Given the description of an element on the screen output the (x, y) to click on. 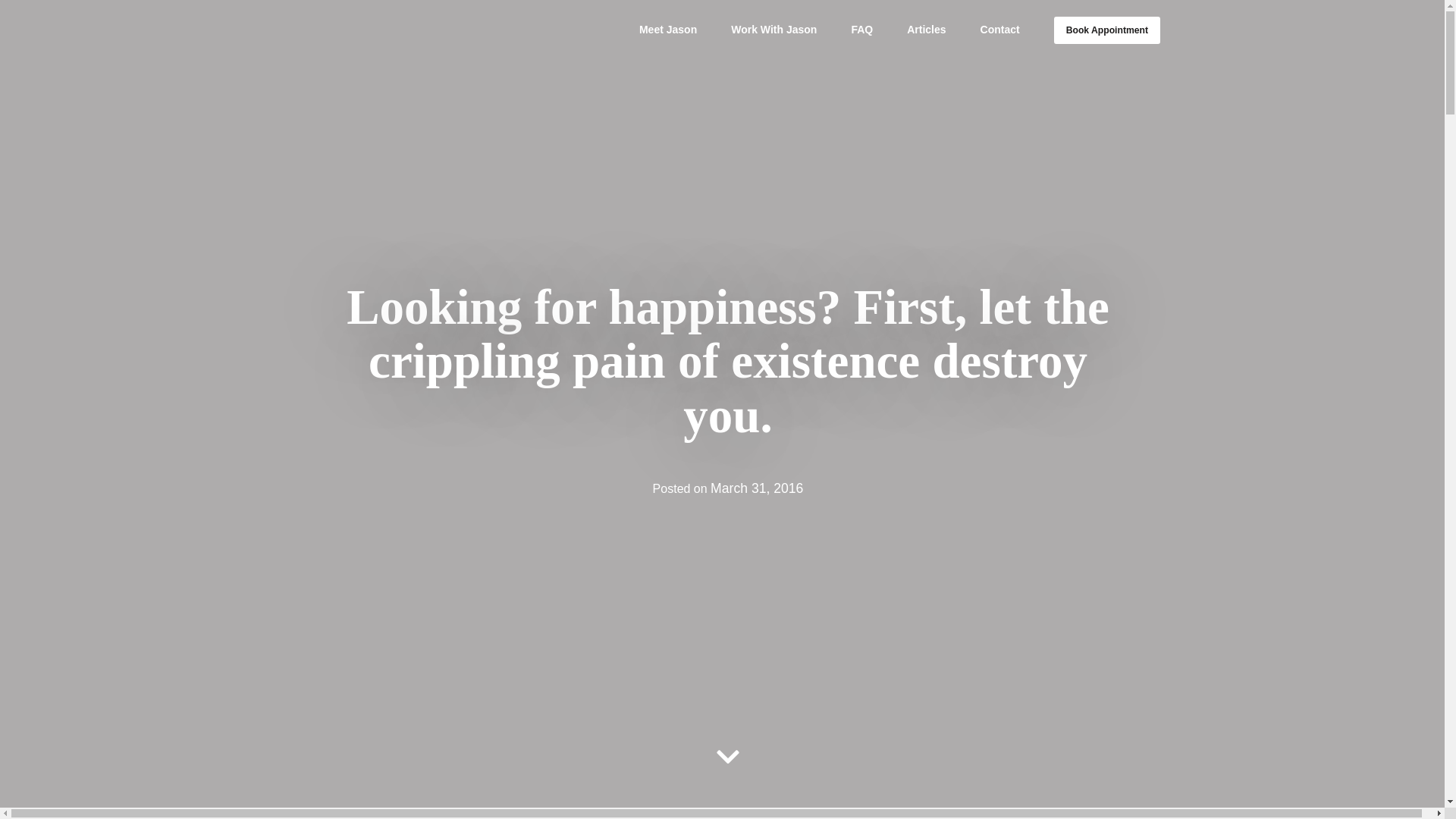
Articles (925, 29)
Meet Jason (668, 29)
FAQ (861, 29)
Work With Jason (773, 29)
Contact (999, 29)
Book Appointment (1106, 30)
March 31, 2016 (756, 488)
